Given the description of an element on the screen output the (x, y) to click on. 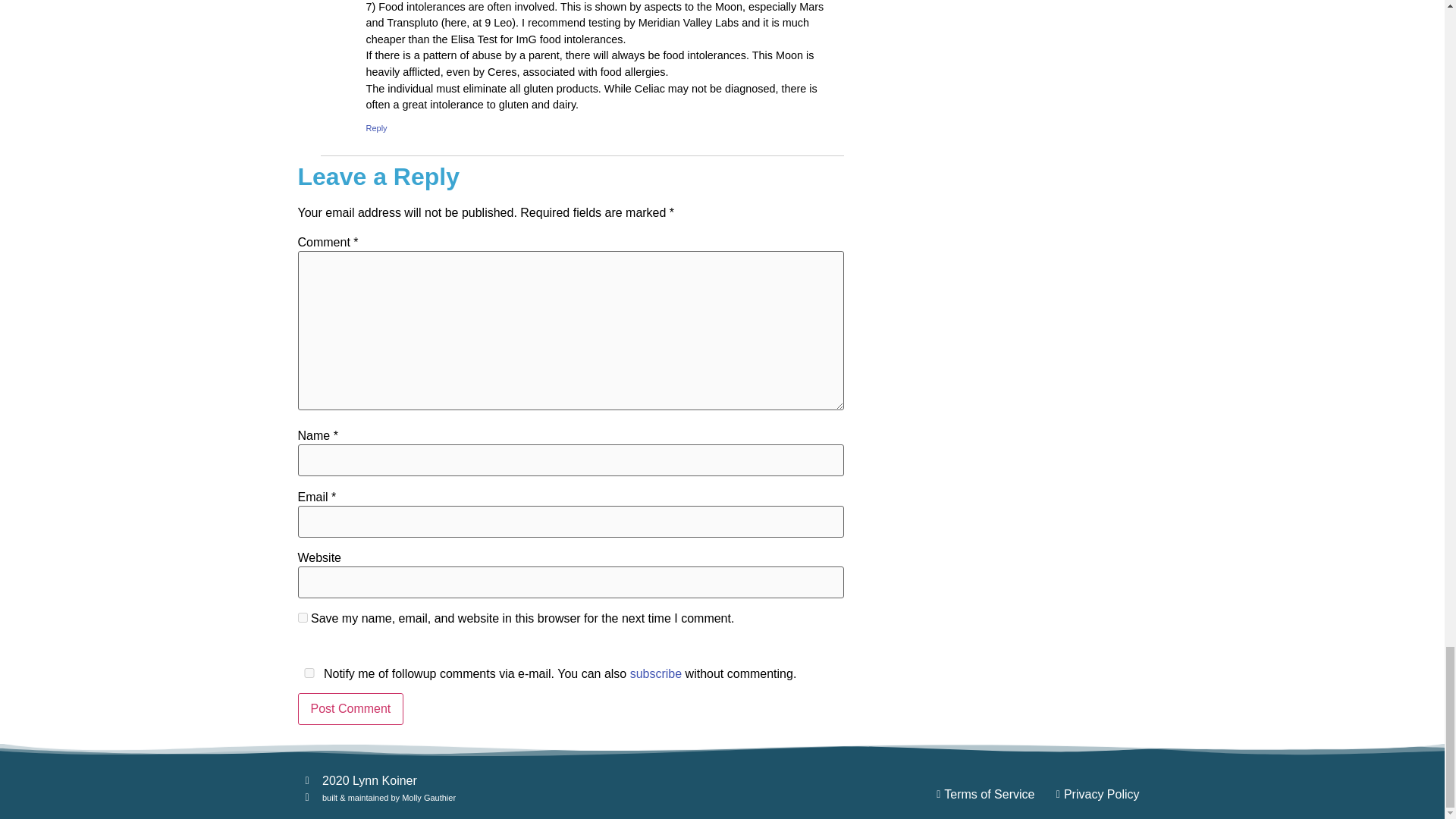
Reply (376, 127)
Post Comment (350, 708)
Post Comment (350, 708)
subscribe (655, 673)
yes (308, 673)
yes (302, 617)
